Given the description of an element on the screen output the (x, y) to click on. 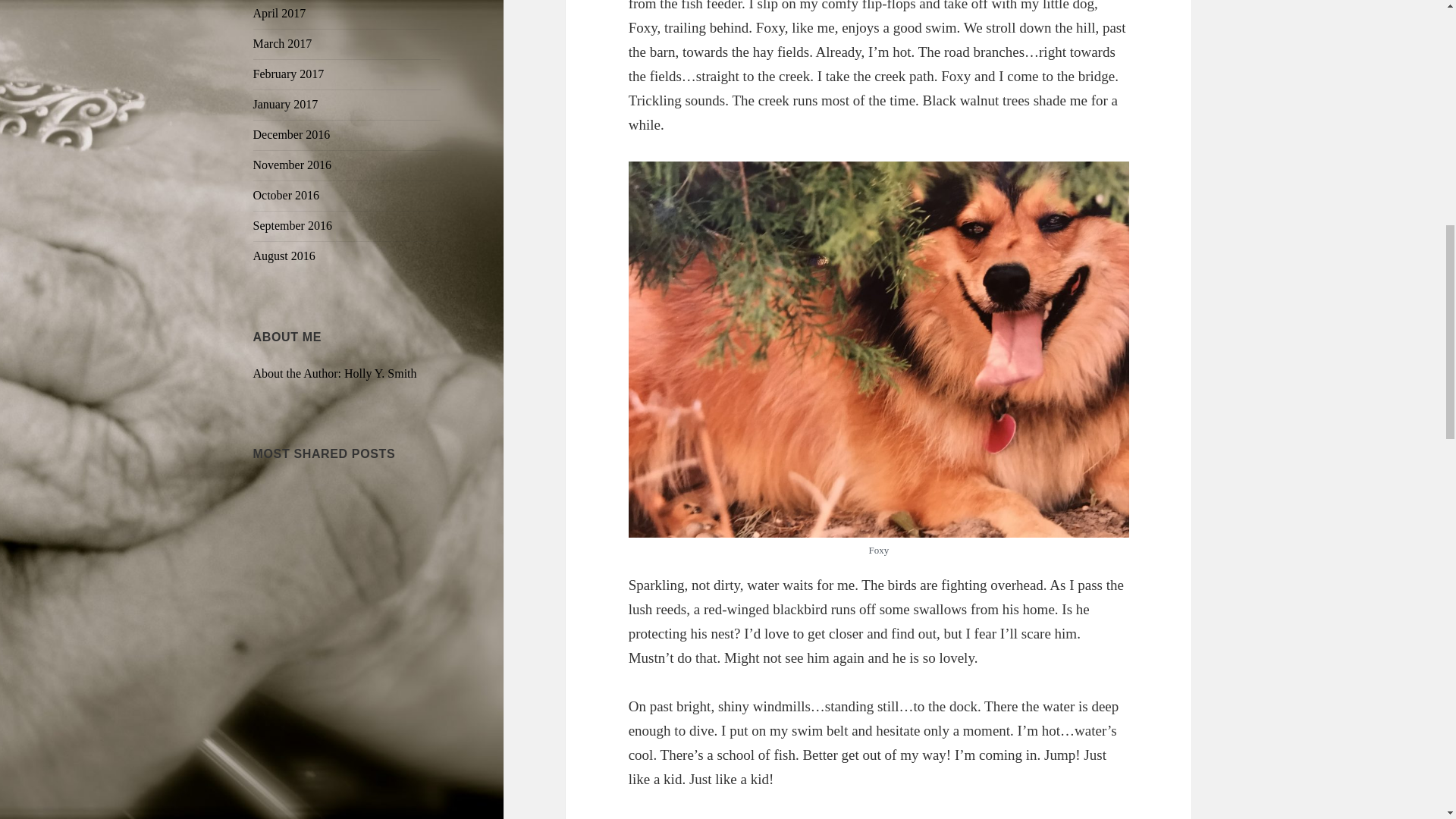
August 2016 (284, 255)
January 2017 (285, 103)
April 2017 (279, 12)
December 2016 (291, 133)
October 2016 (286, 195)
November 2016 (292, 164)
March 2017 (283, 42)
About the Author: Holly Y. Smith (334, 373)
February 2017 (288, 73)
September 2016 (292, 225)
